Given the description of an element on the screen output the (x, y) to click on. 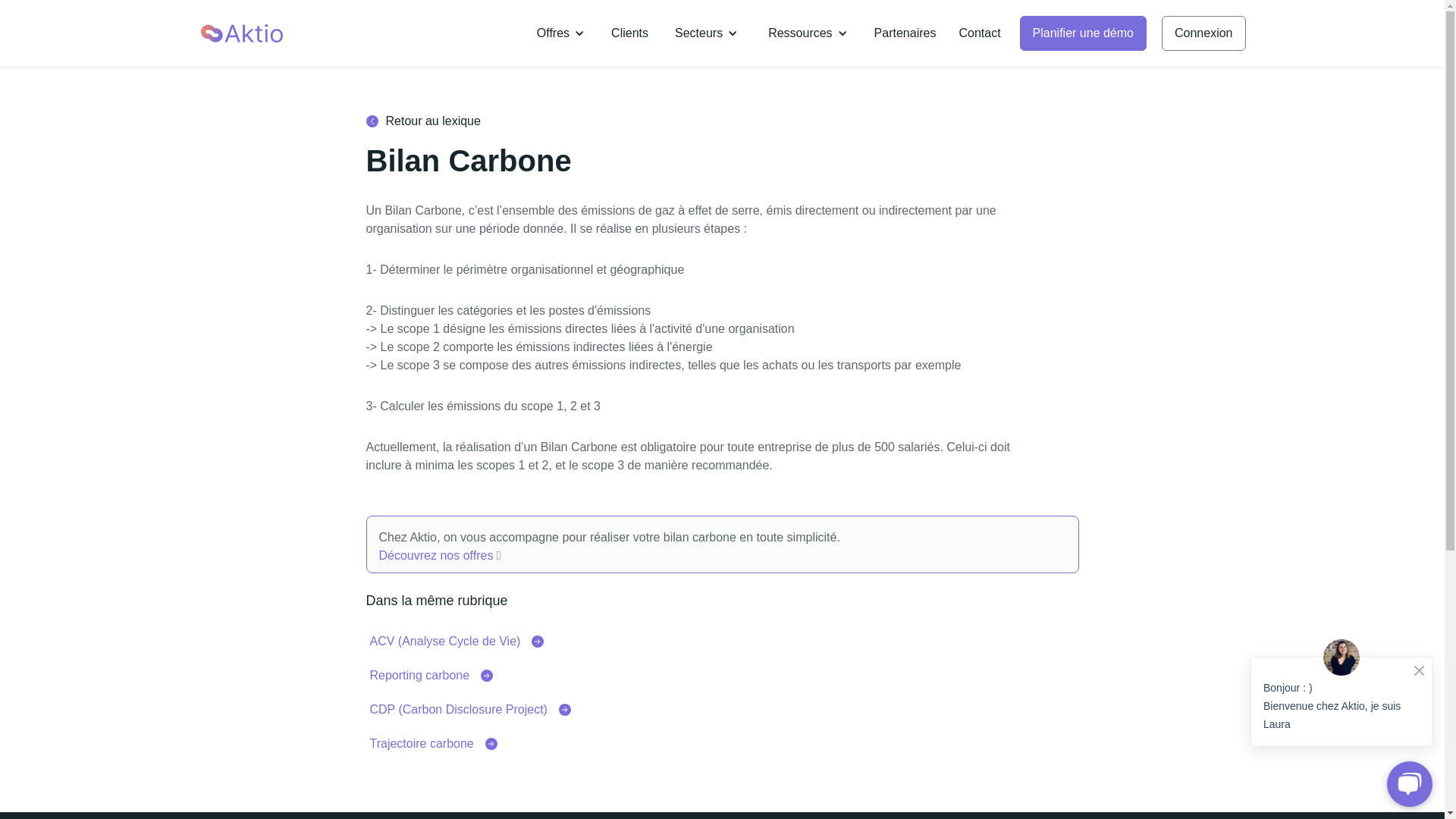
Reporting carbone Element type: text (431, 675)
Trajectoire carbone Element type: text (433, 743)
ACV (Analyse Cycle de Vie) Element type: text (457, 641)
Clients Element type: text (629, 33)
Retour au lexique Element type: text (721, 121)
CDP (Carbon Disclosure Project) Element type: text (470, 709)
Contact Element type: text (979, 33)
Connexion Element type: text (1203, 32)
Partenaires Element type: text (904, 33)
